Given the description of an element on the screen output the (x, y) to click on. 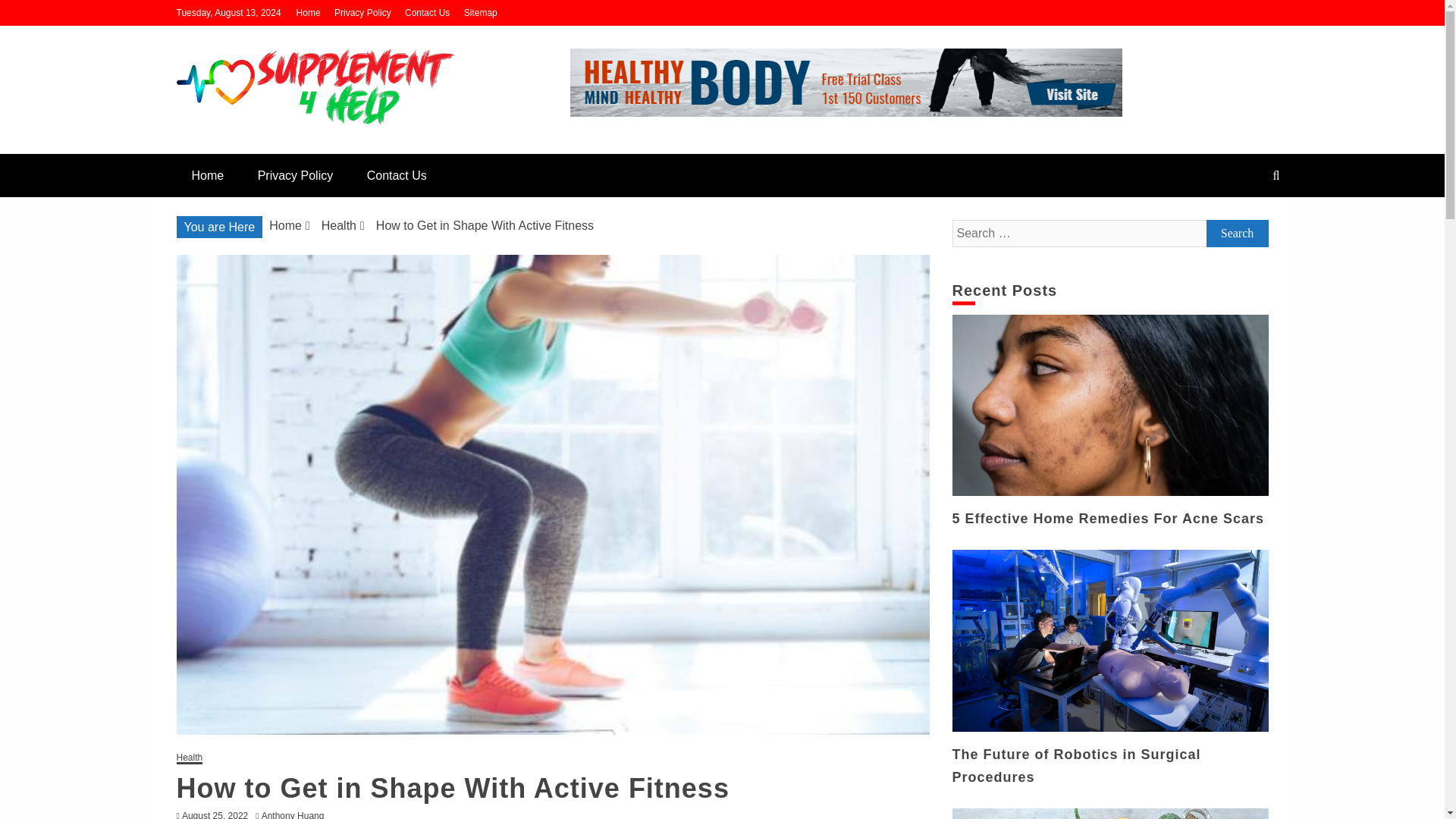
Health (189, 758)
Search (31, 13)
Privacy Policy (296, 175)
Supplement 4 Help (304, 146)
Contact Us (426, 12)
Home (285, 225)
Privacy Policy (362, 12)
Health (338, 225)
Home (207, 175)
Search (1236, 233)
